Given the description of an element on the screen output the (x, y) to click on. 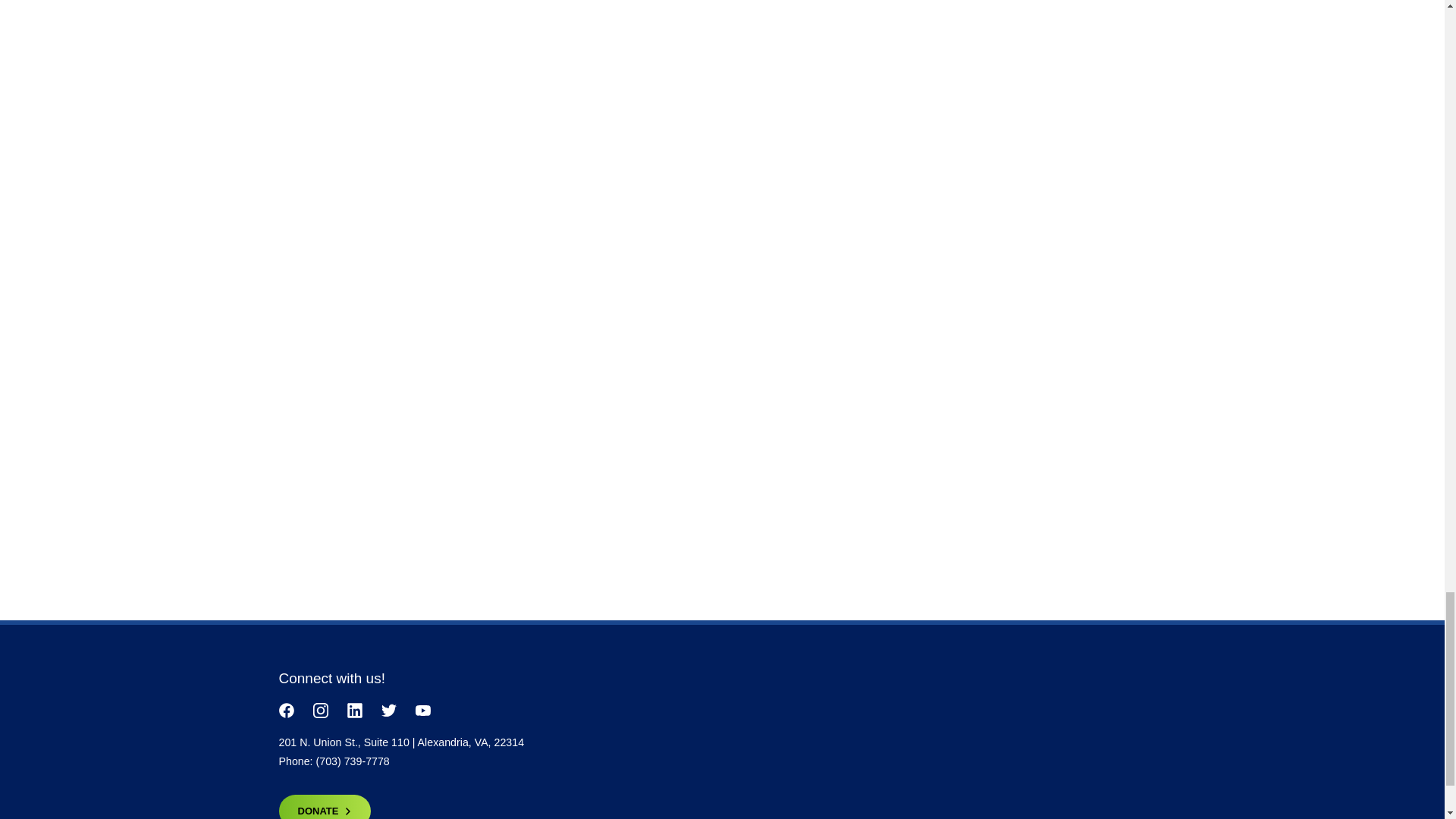
linkedin (354, 710)
facebook (286, 710)
youtube (422, 710)
twitter (388, 710)
instagram (320, 710)
